Given the description of an element on the screen output the (x, y) to click on. 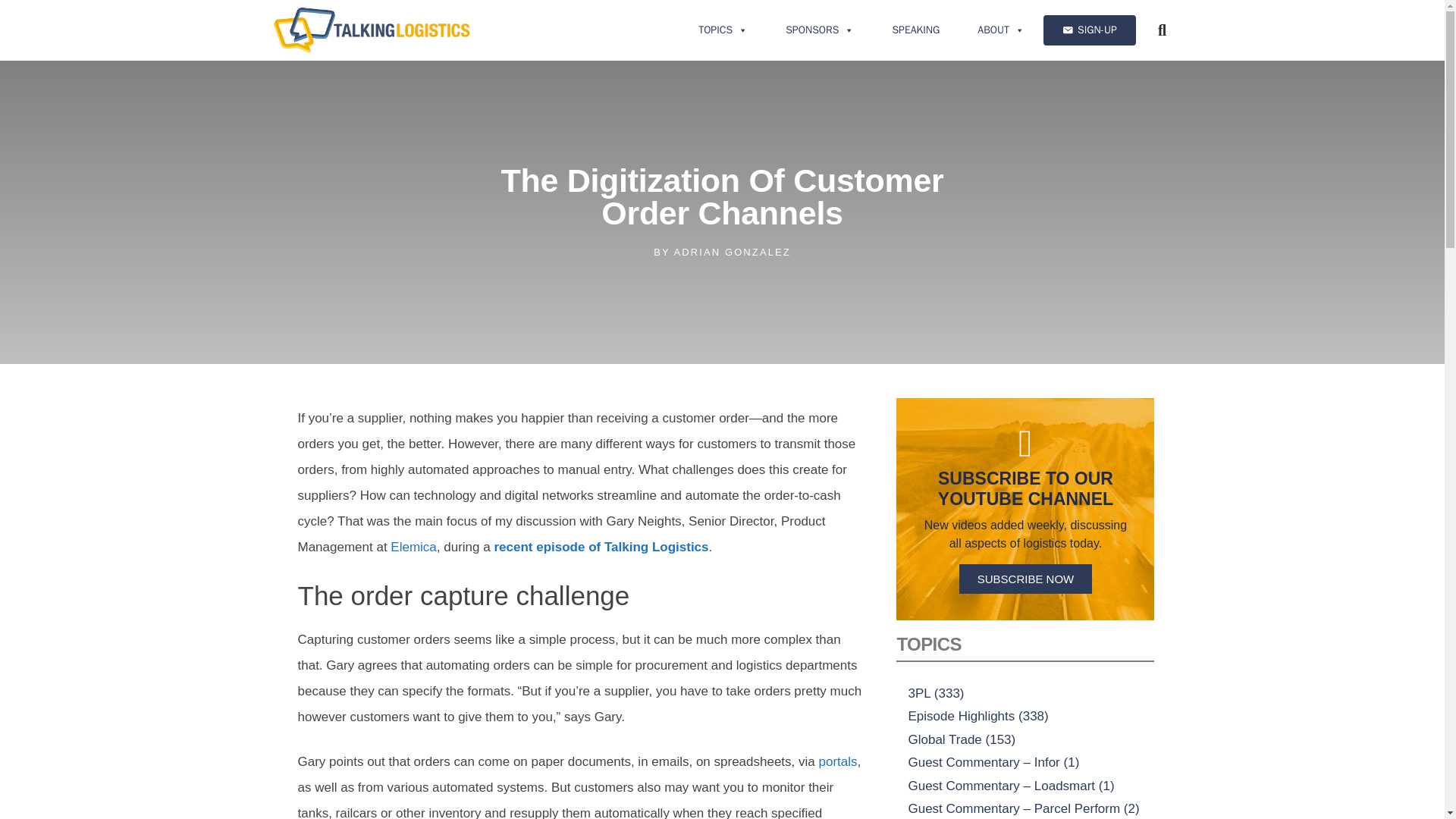
ABOUT (1000, 30)
SPEAKING (915, 30)
SIGN-UP (1089, 30)
TOPICS (723, 30)
SPONSORS (819, 30)
